Given the description of an element on the screen output the (x, y) to click on. 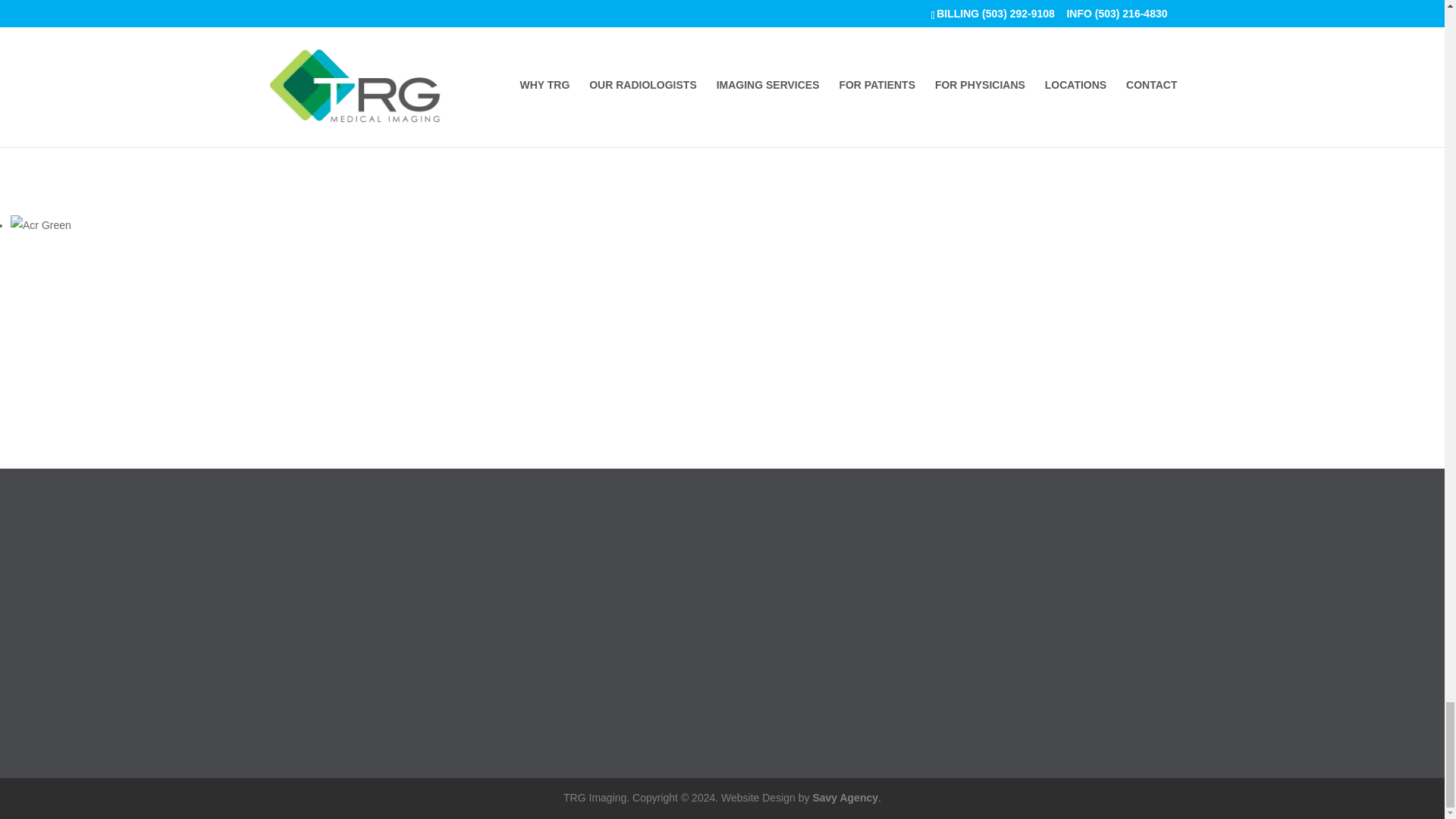
Acr Green (40, 225)
Acr Purple (40, 3)
Acr Red (35, 111)
Savy Agency (844, 797)
